Given the description of an element on the screen output the (x, y) to click on. 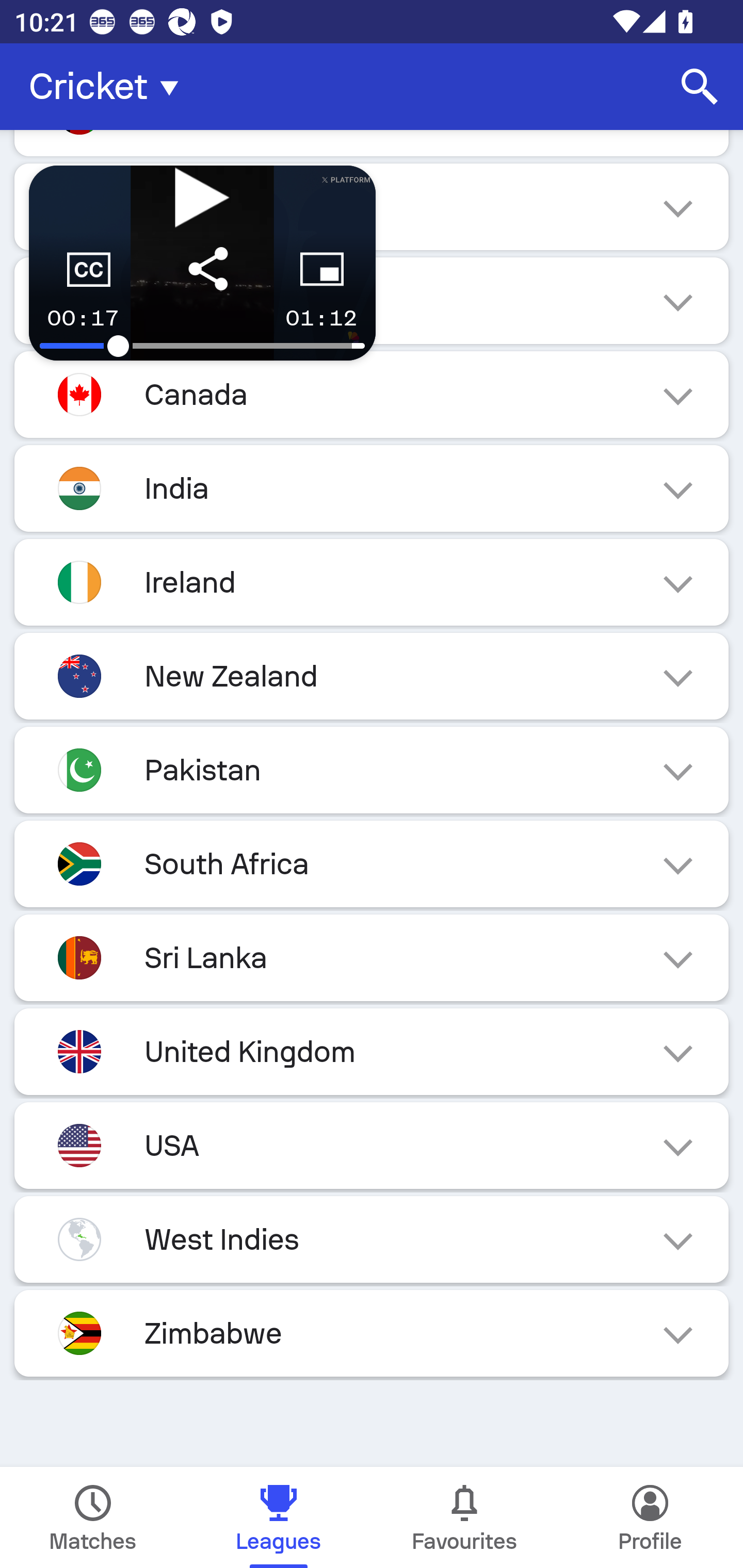
Cricket (109, 86)
Search (699, 86)
Canada (371, 394)
India (371, 488)
Ireland (371, 582)
New Zealand (371, 676)
Pakistan (371, 769)
South Africa (371, 863)
Sri Lanka (371, 957)
United Kingdom (371, 1051)
USA (371, 1145)
West Indies (371, 1239)
Zimbabwe (371, 1333)
Matches (92, 1517)
Favourites (464, 1517)
Profile (650, 1517)
